Given the description of an element on the screen output the (x, y) to click on. 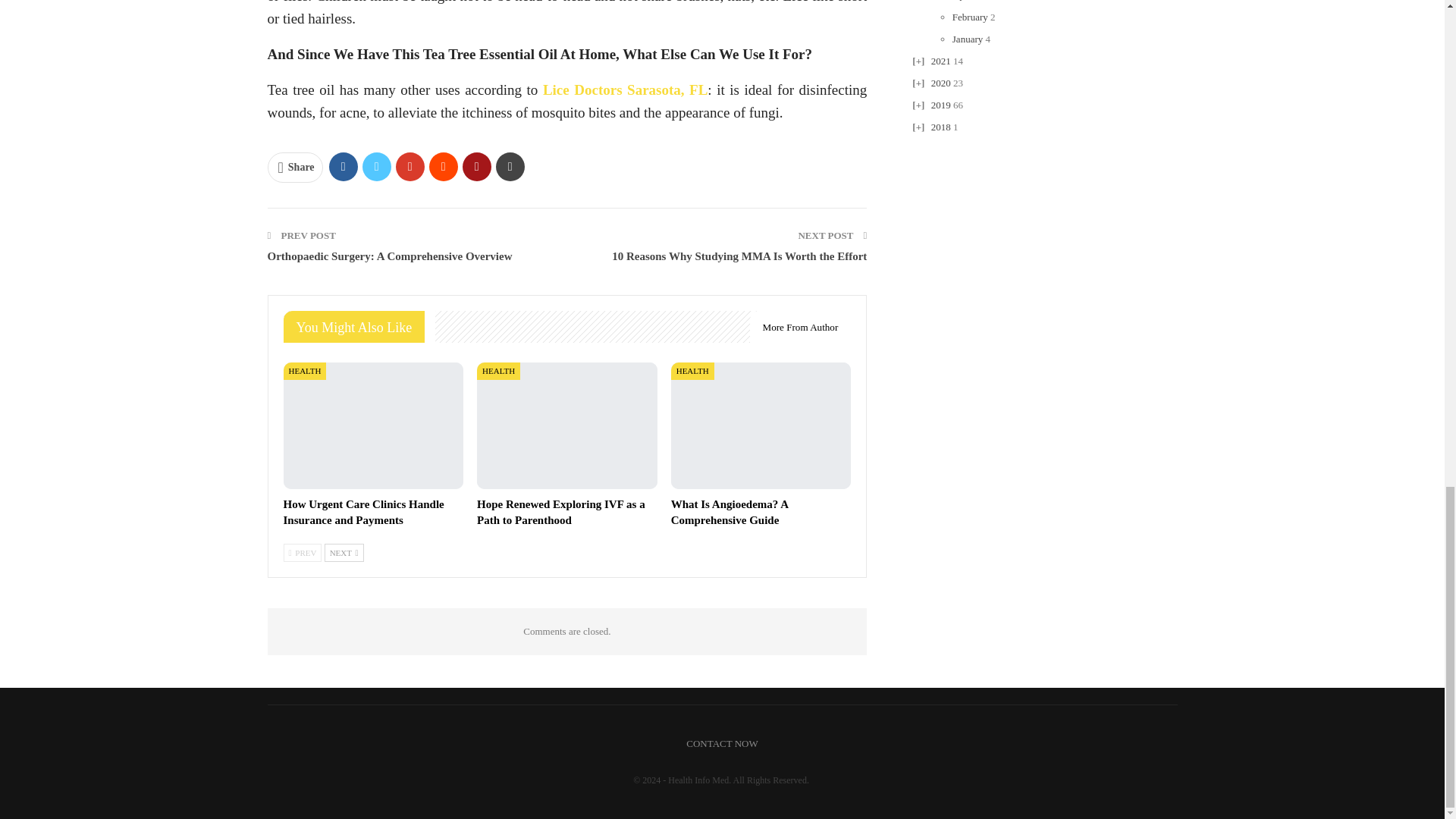
Next (344, 552)
How Urgent Care Clinics Handle Insurance and Payments (373, 425)
Previous (302, 552)
Hope Renewed Exploring IVF as a Path to Parenthood (567, 425)
Lice Doctors Sarasota, FL (625, 89)
What Is Angioedema? A Comprehensive Guide (761, 425)
Hope Renewed Exploring IVF as a Path to Parenthood (561, 511)
How Urgent Care Clinics Handle Insurance and Payments (363, 511)
What Is Angioedema? A Comprehensive Guide (730, 511)
